Given the description of an element on the screen output the (x, y) to click on. 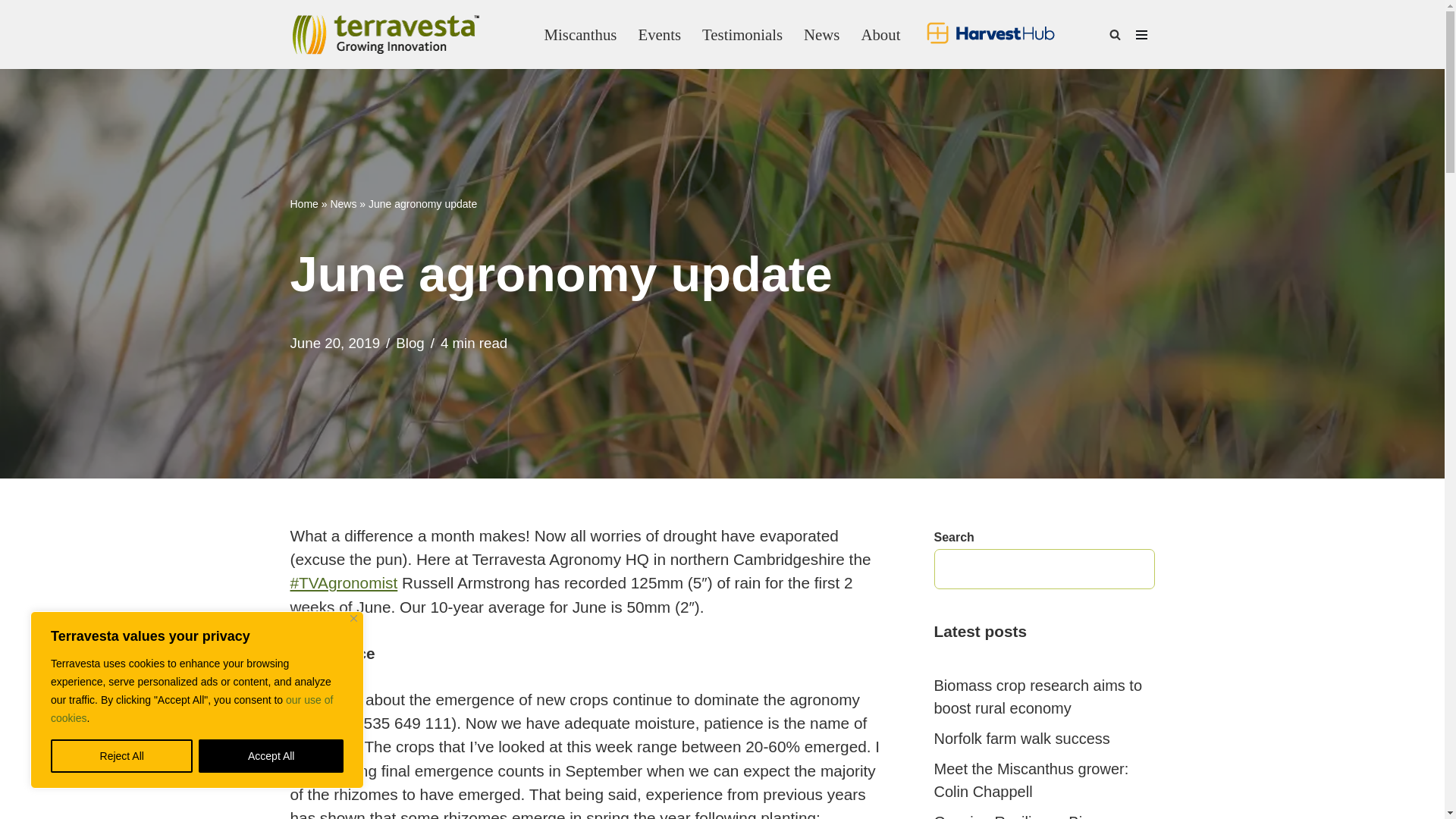
News (821, 33)
About (879, 33)
Accept All (270, 756)
Miscanthus (580, 33)
Testimonials (742, 33)
Events (659, 33)
Navigation Menu (1141, 34)
our use of cookies (191, 708)
Skip to content (11, 31)
Reject All (121, 756)
